Given the description of an element on the screen output the (x, y) to click on. 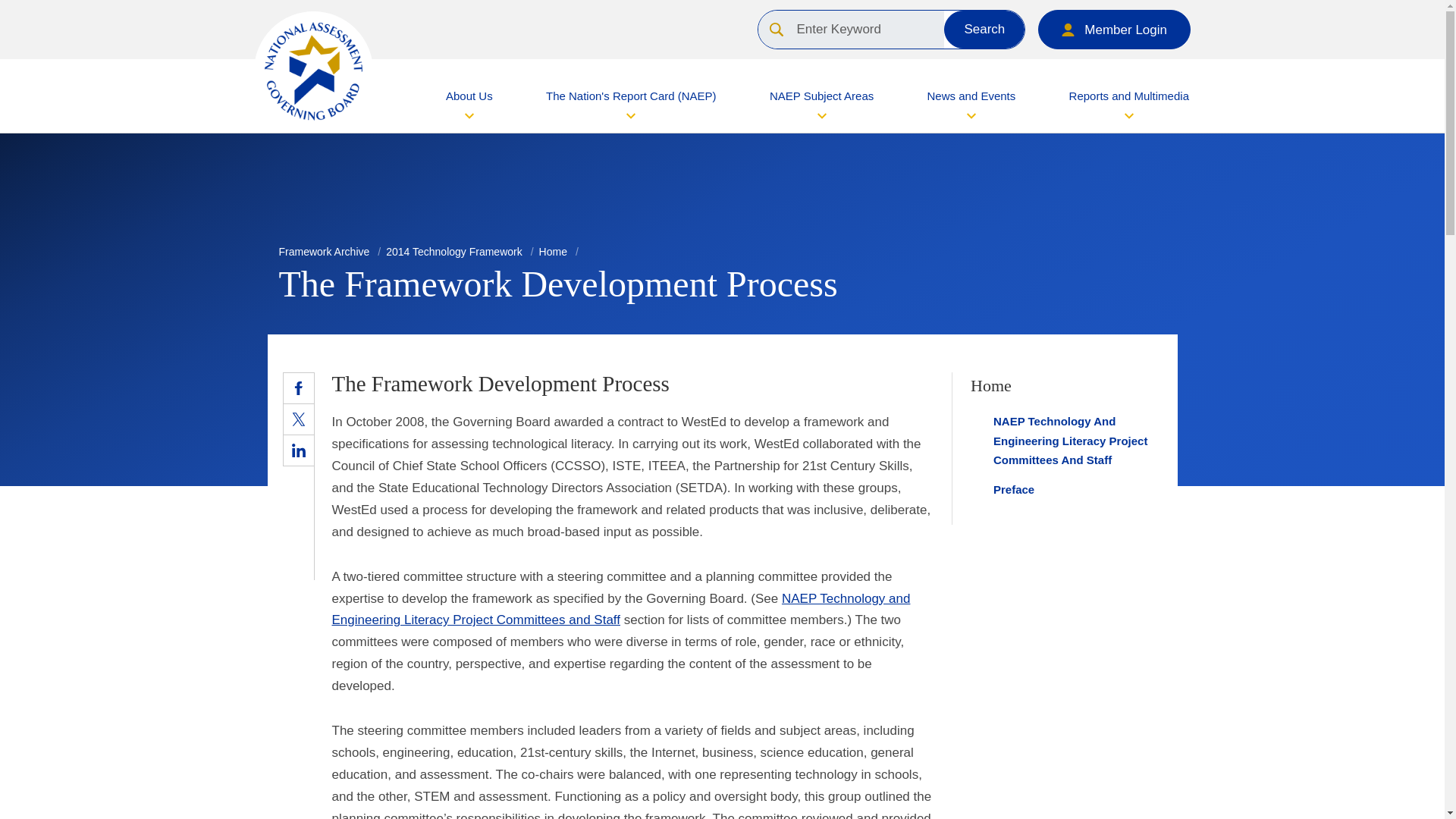
News and Events (971, 95)
Share This On Facebook (298, 388)
Search (984, 29)
Share This On Twitter (298, 419)
Share This On LinkedIn (298, 450)
NAGB Home (313, 70)
Member Login (1114, 29)
Reports and Multimedia (1128, 95)
Preface (1076, 489)
NAEP Subject Areas (821, 95)
Submit Search (984, 29)
